Given the description of an element on the screen output the (x, y) to click on. 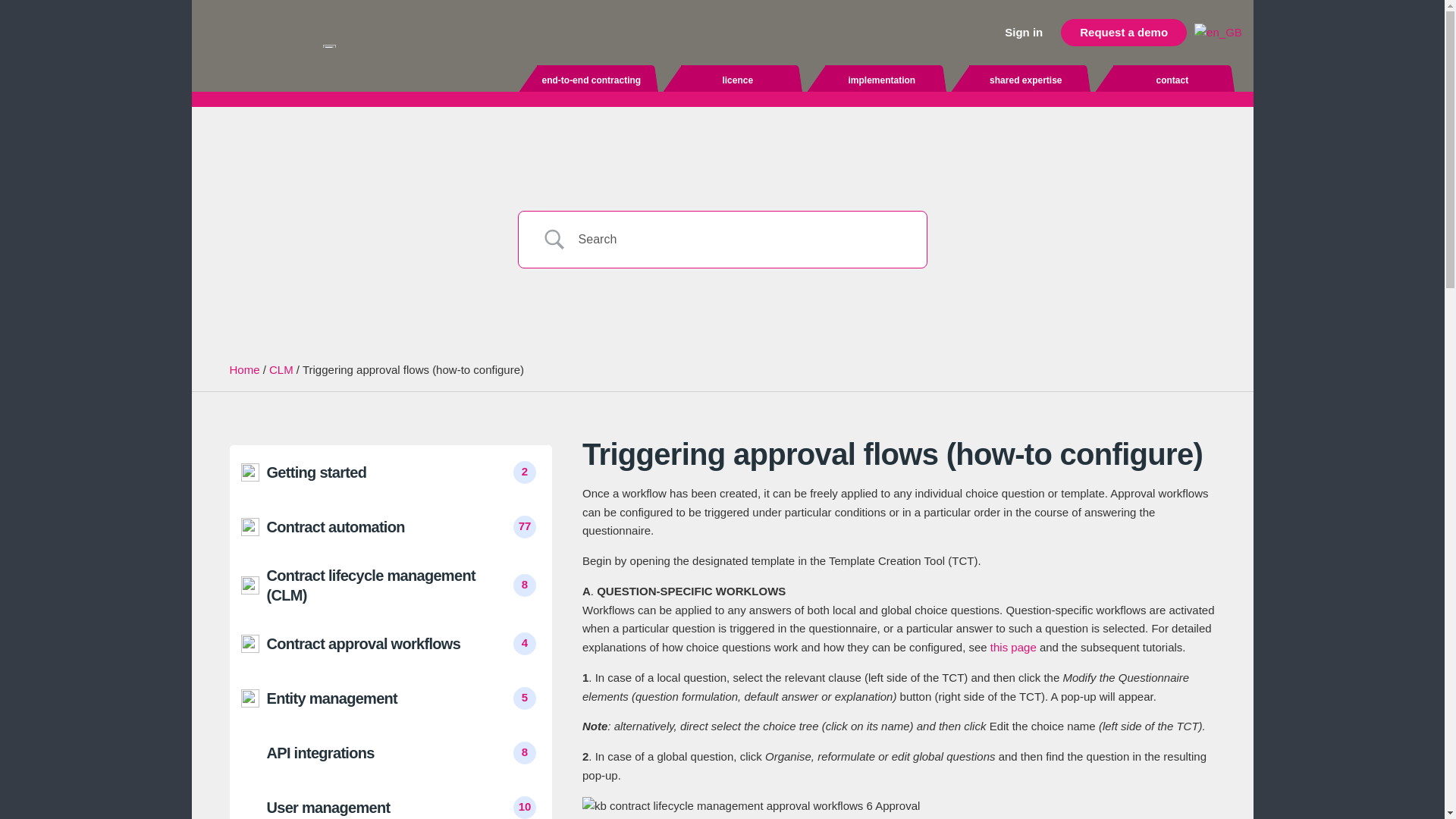
licence (737, 80)
end-to-end contracting (591, 80)
implementation (881, 80)
Sign in (1024, 32)
